Given the description of an element on the screen output the (x, y) to click on. 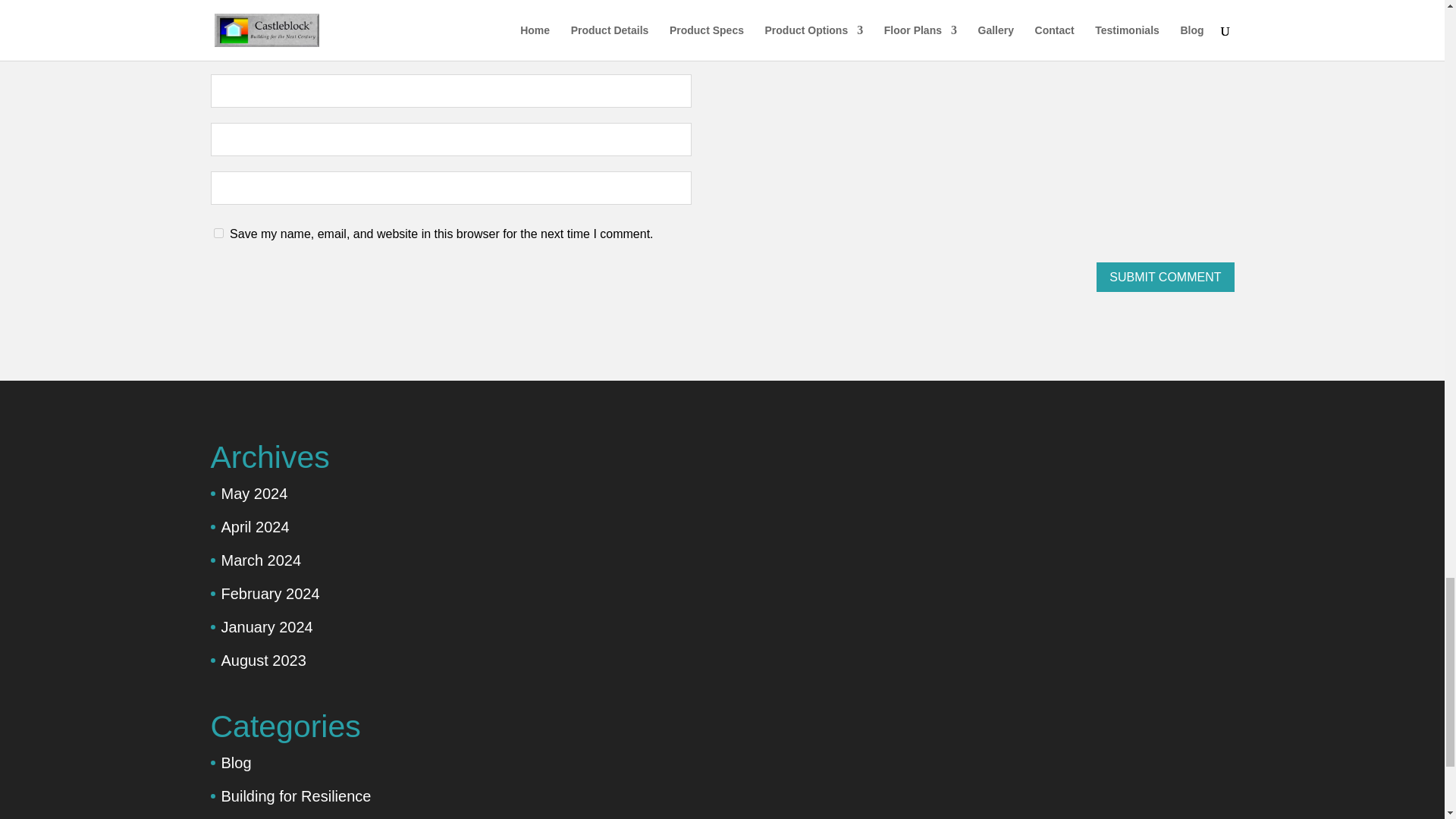
yes (219, 233)
